Given the description of an element on the screen output the (x, y) to click on. 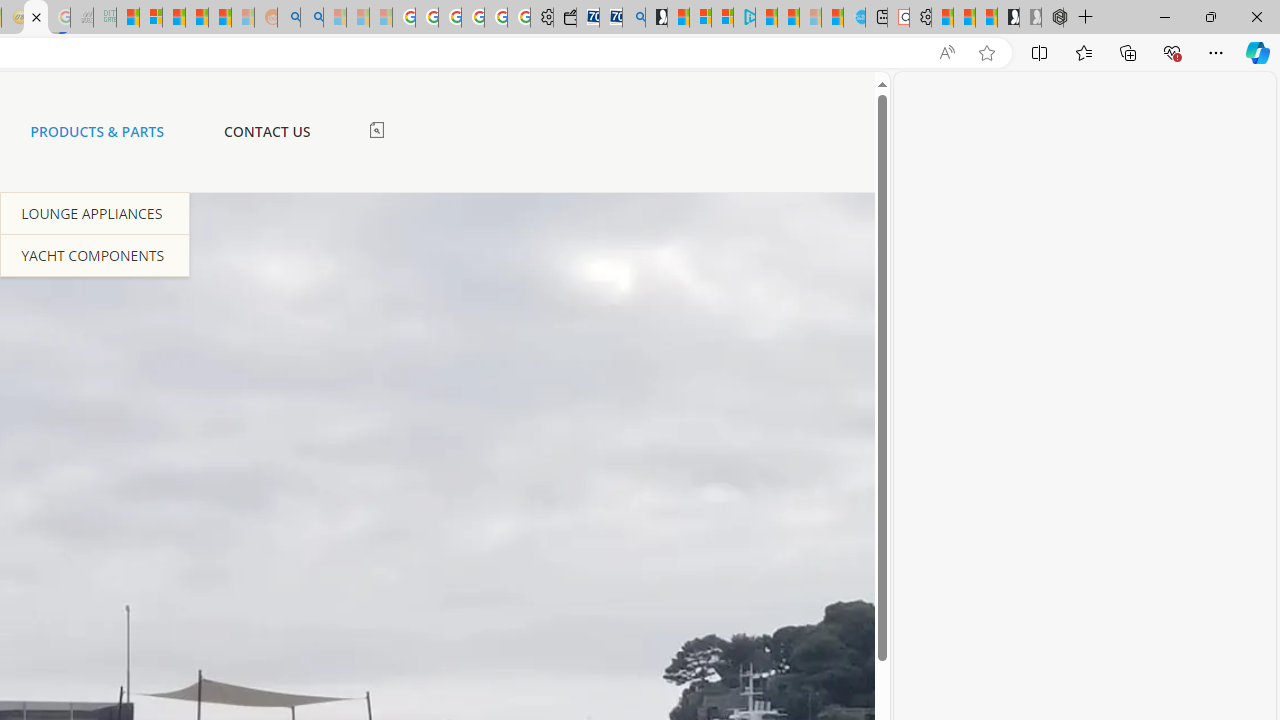
Microsoft Start Gaming (656, 17)
Nordace - Nordace Siena Is Not An Ordinary Backpack (1052, 17)
MSNBC - MSN (127, 17)
Bing Real Estate - Home sales and rental listings (634, 17)
Home | Sky Blue Bikes - Sky Blue Bikes (854, 17)
DITOGAMES AG Imprint - Sleeping (104, 17)
